Given the description of an element on the screen output the (x, y) to click on. 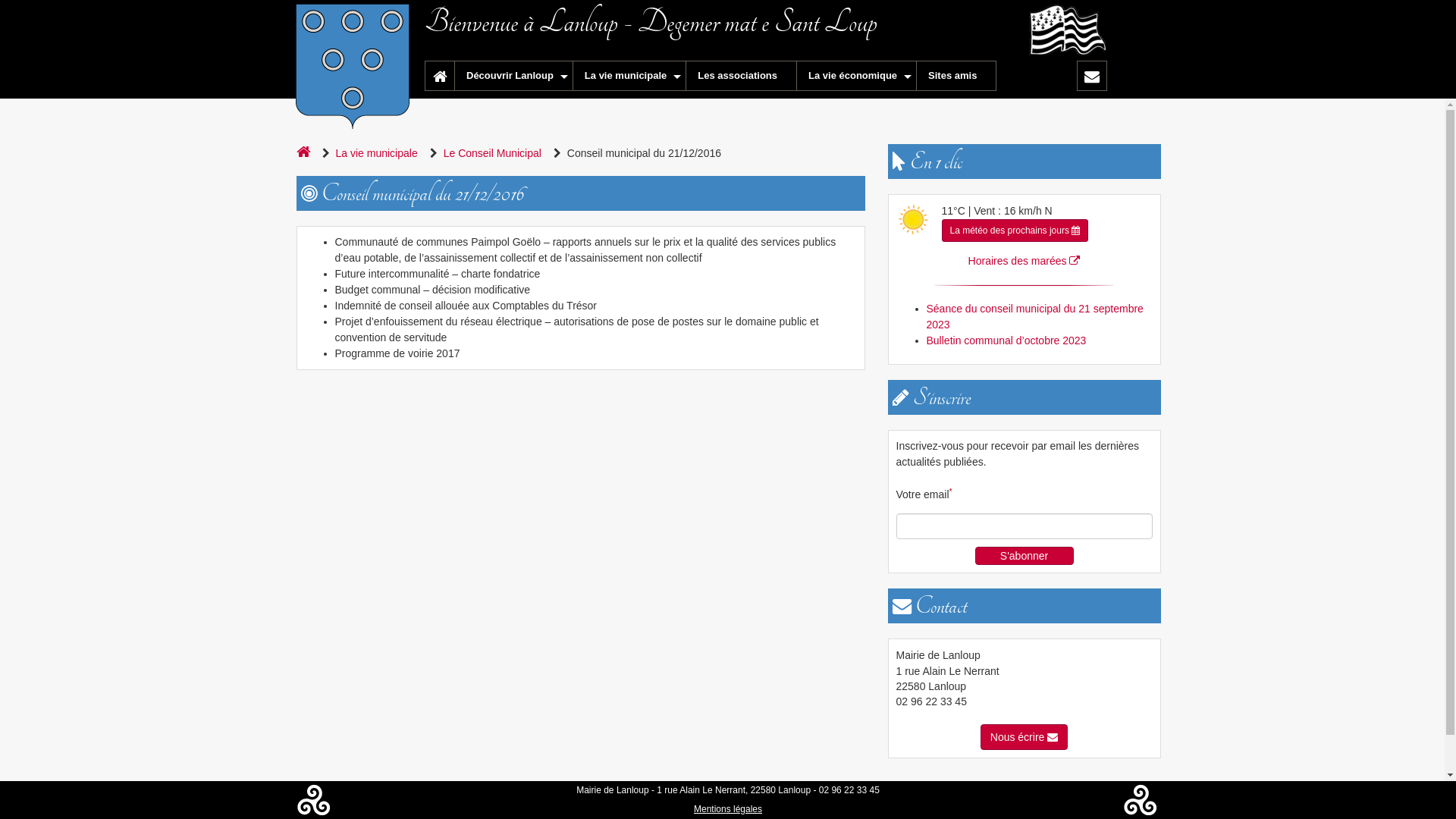
Les associations Element type: text (741, 75)
Le Conseil Municipal Element type: text (495, 153)
Sites amis Element type: text (956, 75)
La vie municipale Element type: text (379, 153)
S'abonner Element type: text (1024, 555)
La vie municipale Element type: text (629, 75)
Nous contacter Element type: hover (1091, 75)
